Given the description of an element on the screen output the (x, y) to click on. 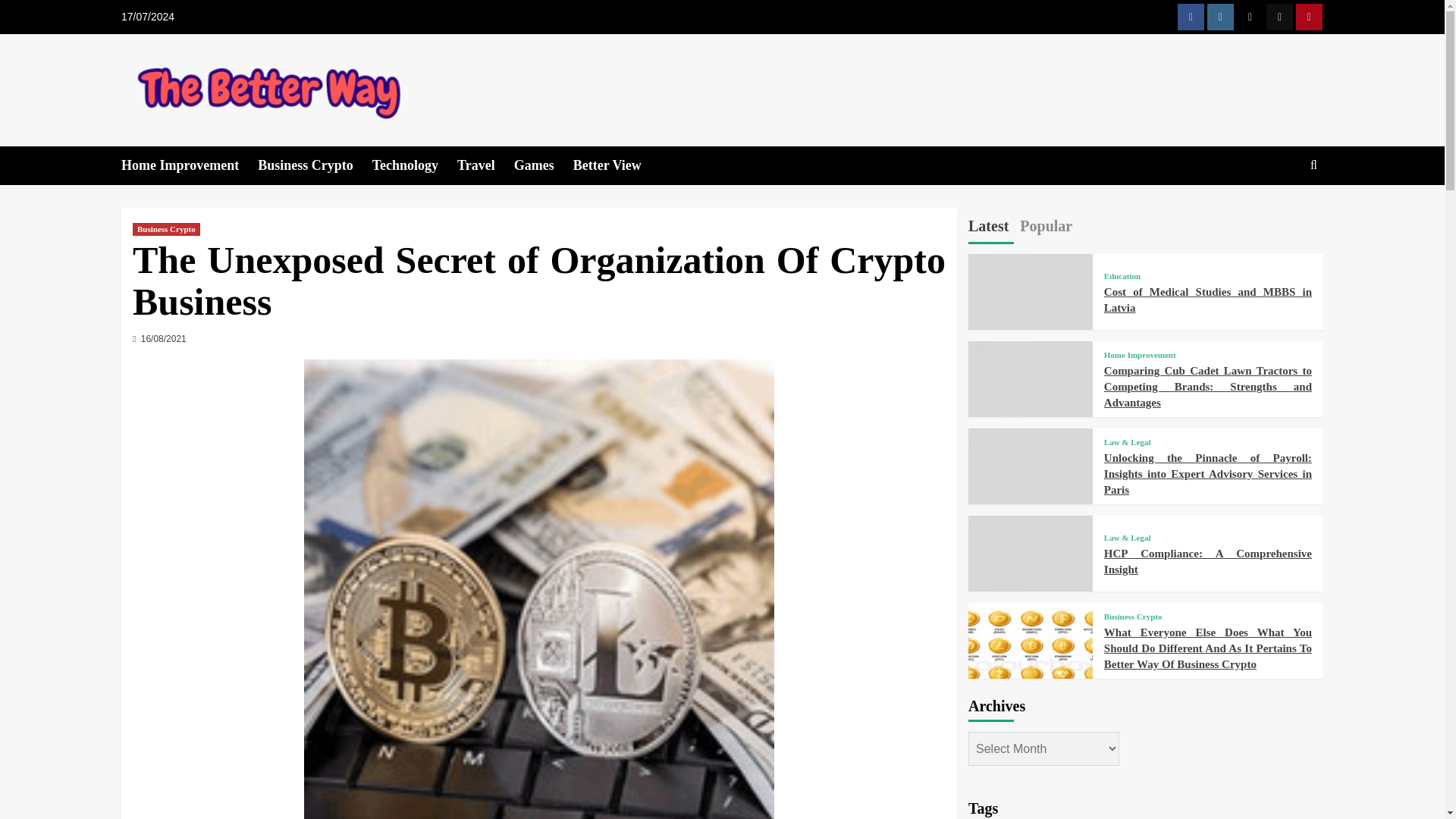
Technology (414, 164)
Search (1313, 164)
Travel (485, 164)
Cost of Medical Studies and MBBS in Latvia (1030, 315)
Search (1278, 211)
TikTok (1279, 17)
Home Improvement (188, 164)
Better View (617, 164)
Business Crypto (314, 164)
Facebook (1190, 17)
Instagram (1220, 17)
HCP Compliance: A Comprehensive Insight (1030, 577)
Games (543, 164)
